Given the description of an element on the screen output the (x, y) to click on. 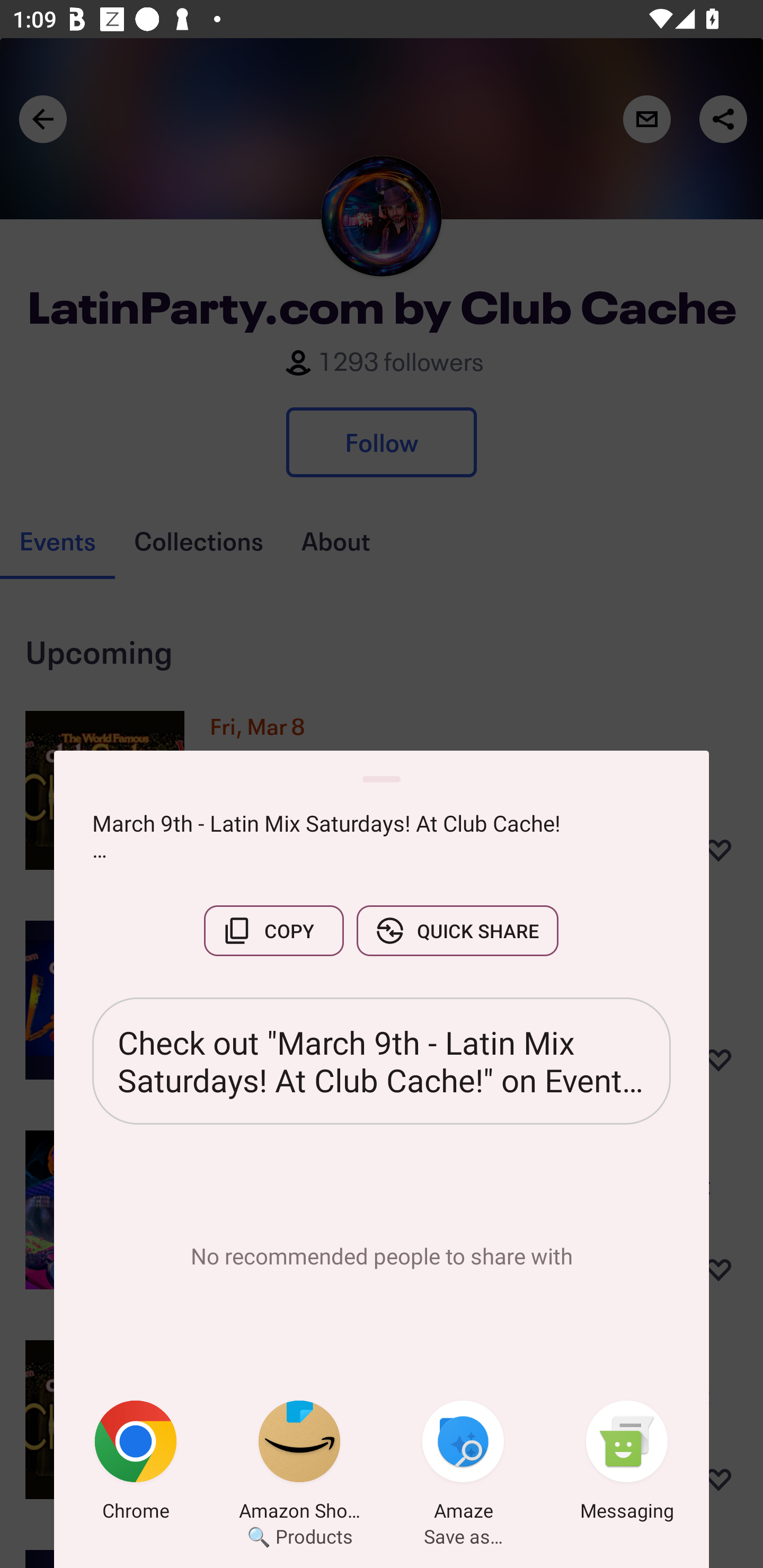
COPY (273, 930)
QUICK SHARE (457, 930)
Chrome (135, 1463)
Amazon Shopping 🔍 Products (299, 1463)
Amaze Save as… (463, 1463)
Messaging (626, 1463)
